Given the description of an element on the screen output the (x, y) to click on. 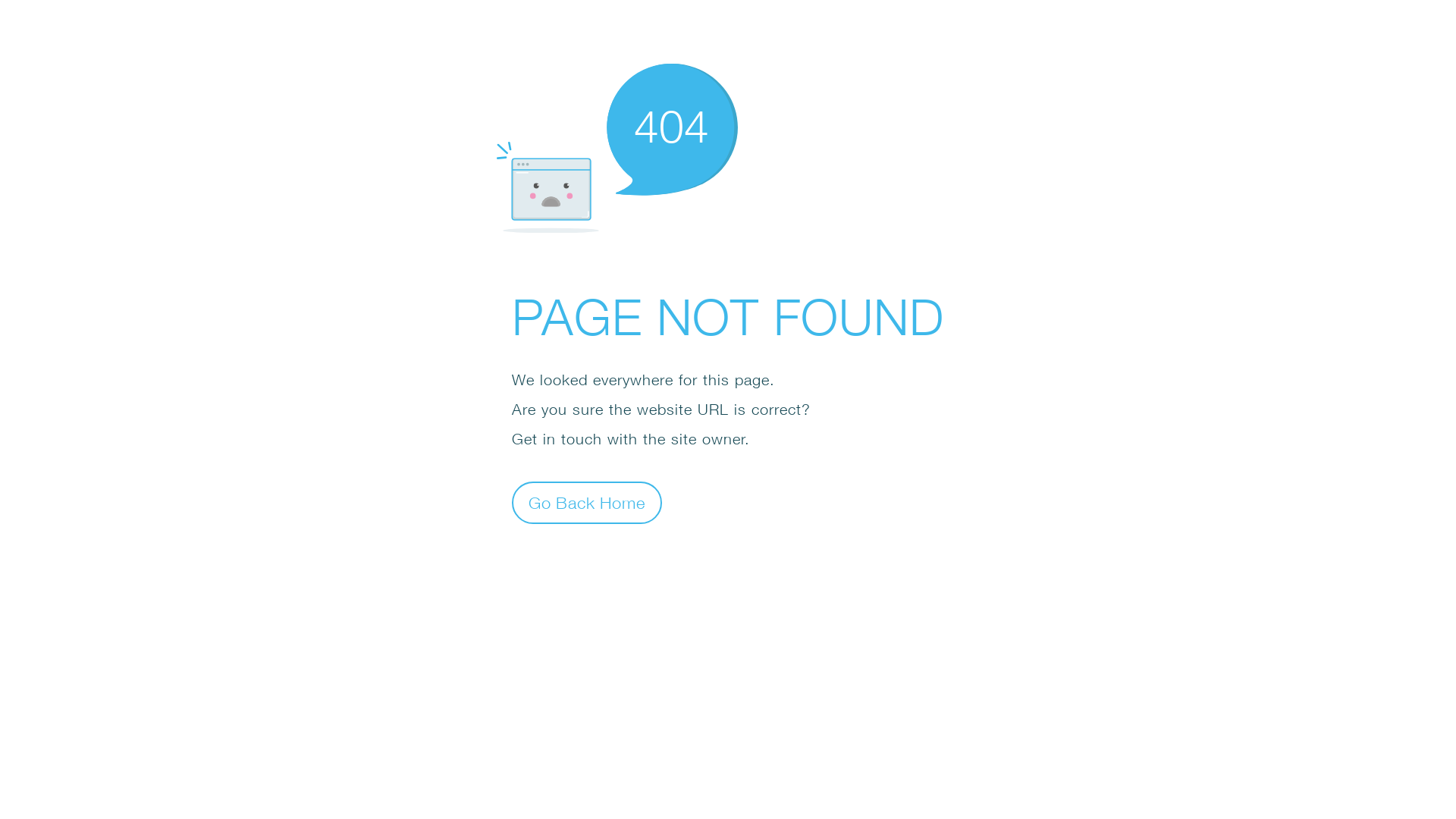
Go Back Home Element type: text (586, 502)
